Given the description of an element on the screen output the (x, y) to click on. 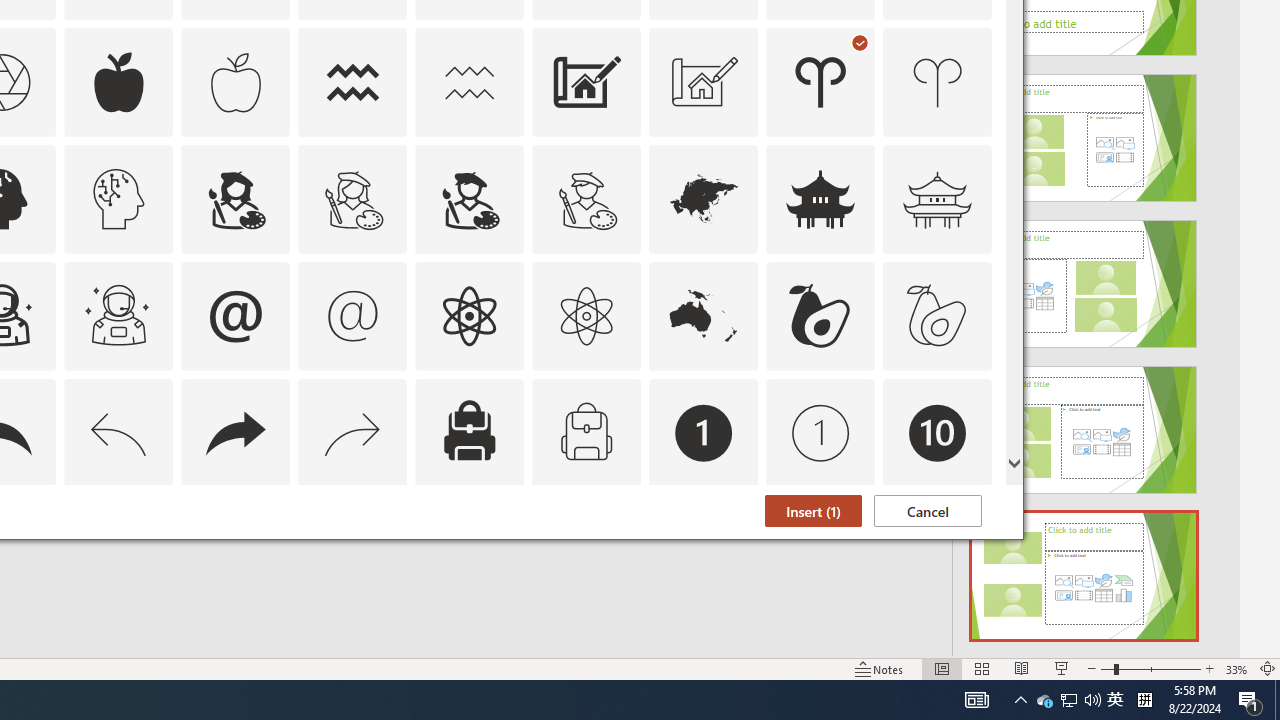
Action Center, 1 new notification (1250, 699)
AutomationID: Icons_Badge6 (118, 550)
Zoom 33% (1236, 668)
AutomationID: Icons_ArtistMale (469, 198)
AutomationID: Icons_Back_RTL (235, 432)
AutomationID: Icons_Asia (703, 198)
Cancel (927, 511)
AutomationID: Icons_Aquarius_M (469, 82)
